Given the description of an element on the screen output the (x, y) to click on. 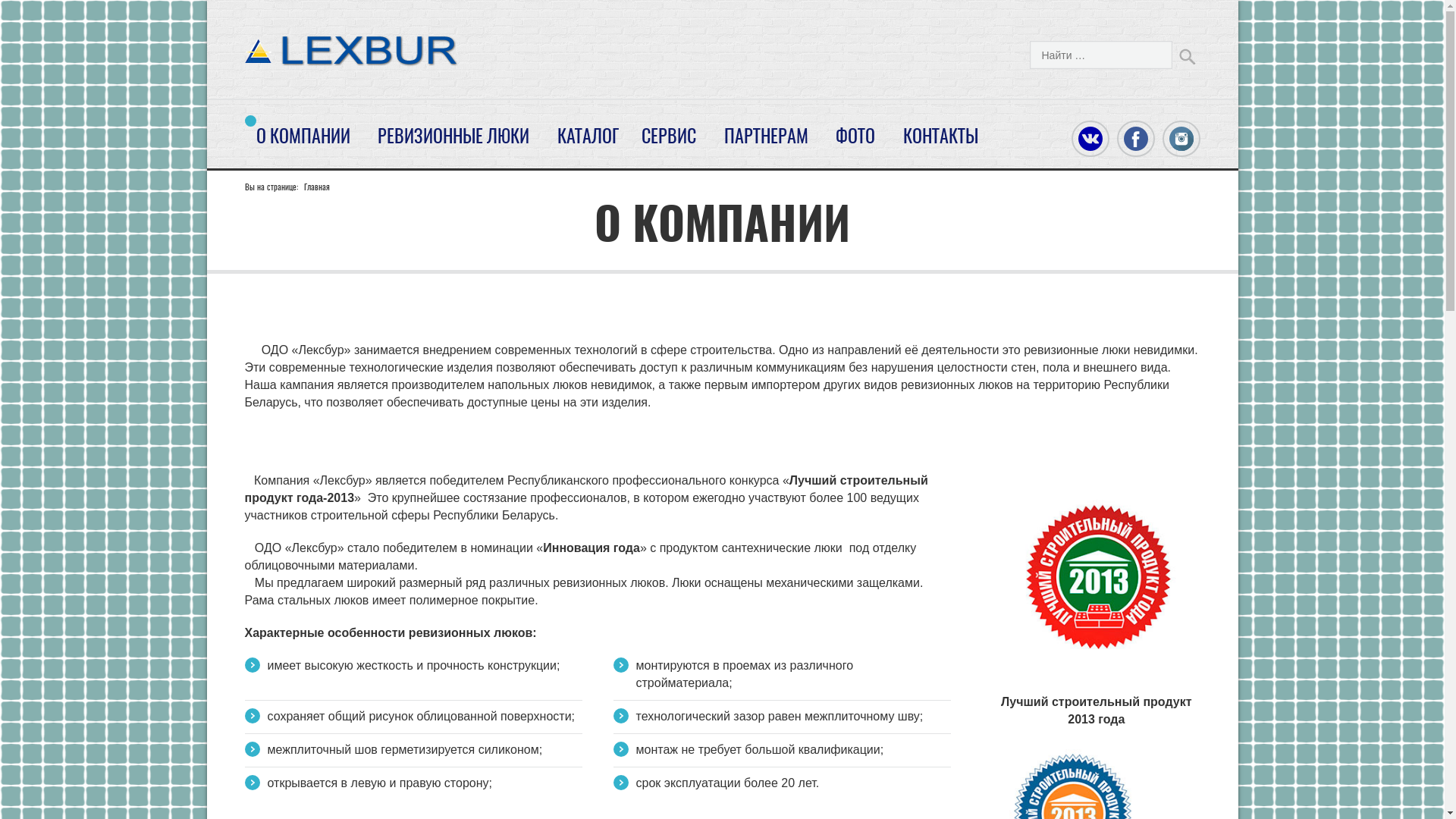
Search for: Element type: hover (1100, 54)
Search Element type: text (1186, 55)
